Given the description of an element on the screen output the (x, y) to click on. 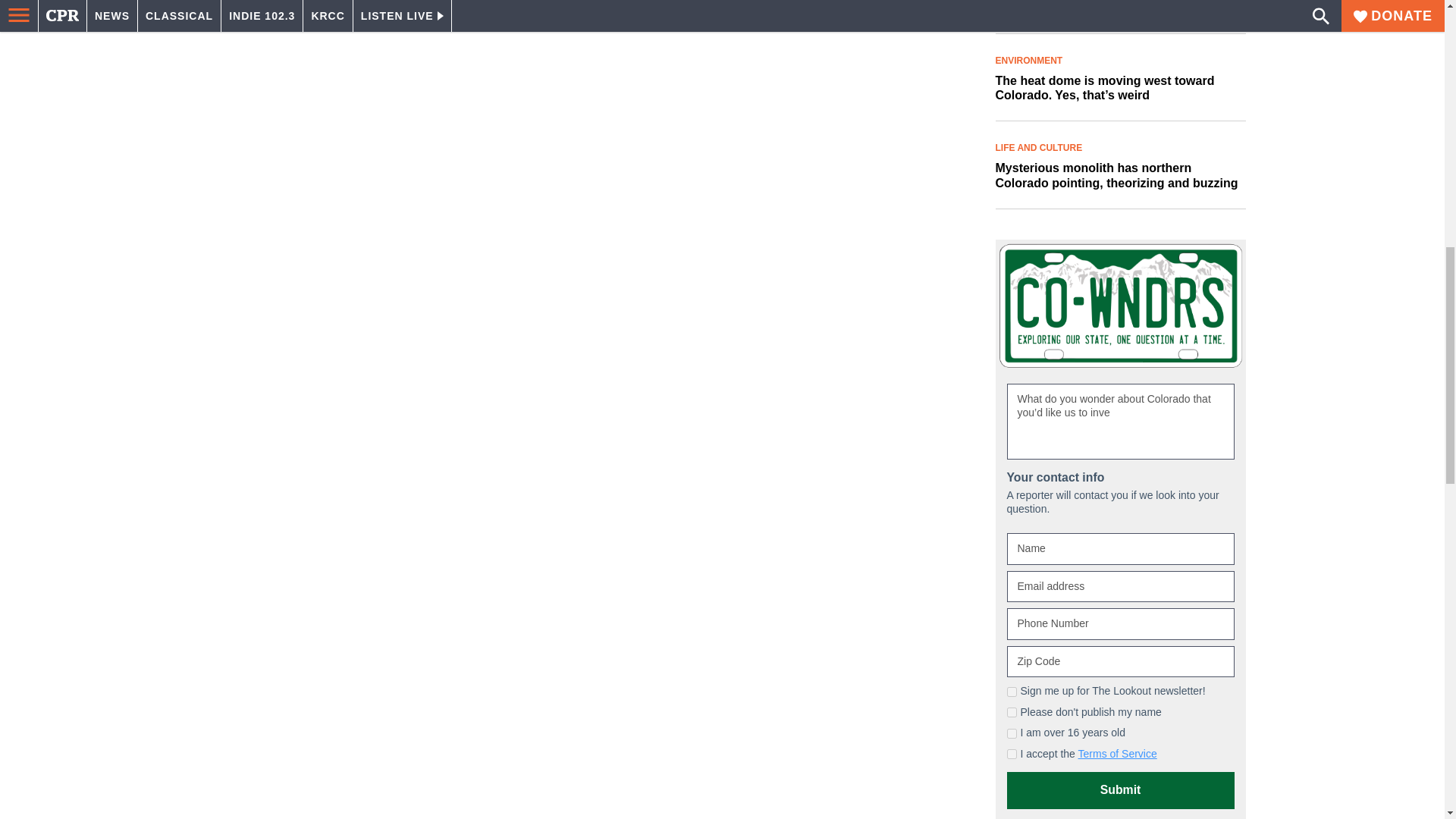
on (1011, 712)
on (1011, 754)
on (1011, 733)
on (1011, 691)
